Given the description of an element on the screen output the (x, y) to click on. 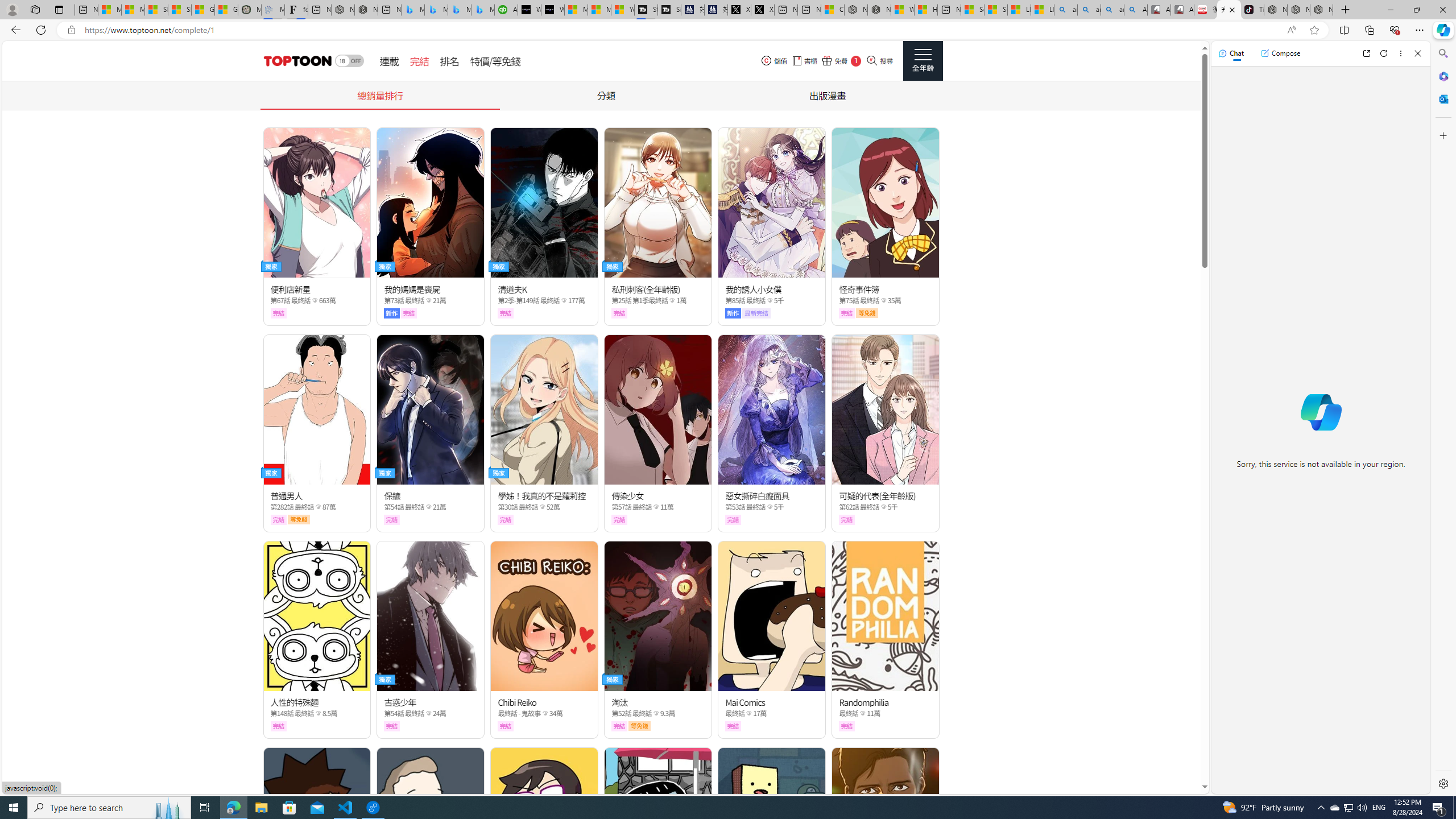
Open link in new tab (1366, 53)
Side bar (1443, 418)
